Given the description of an element on the screen output the (x, y) to click on. 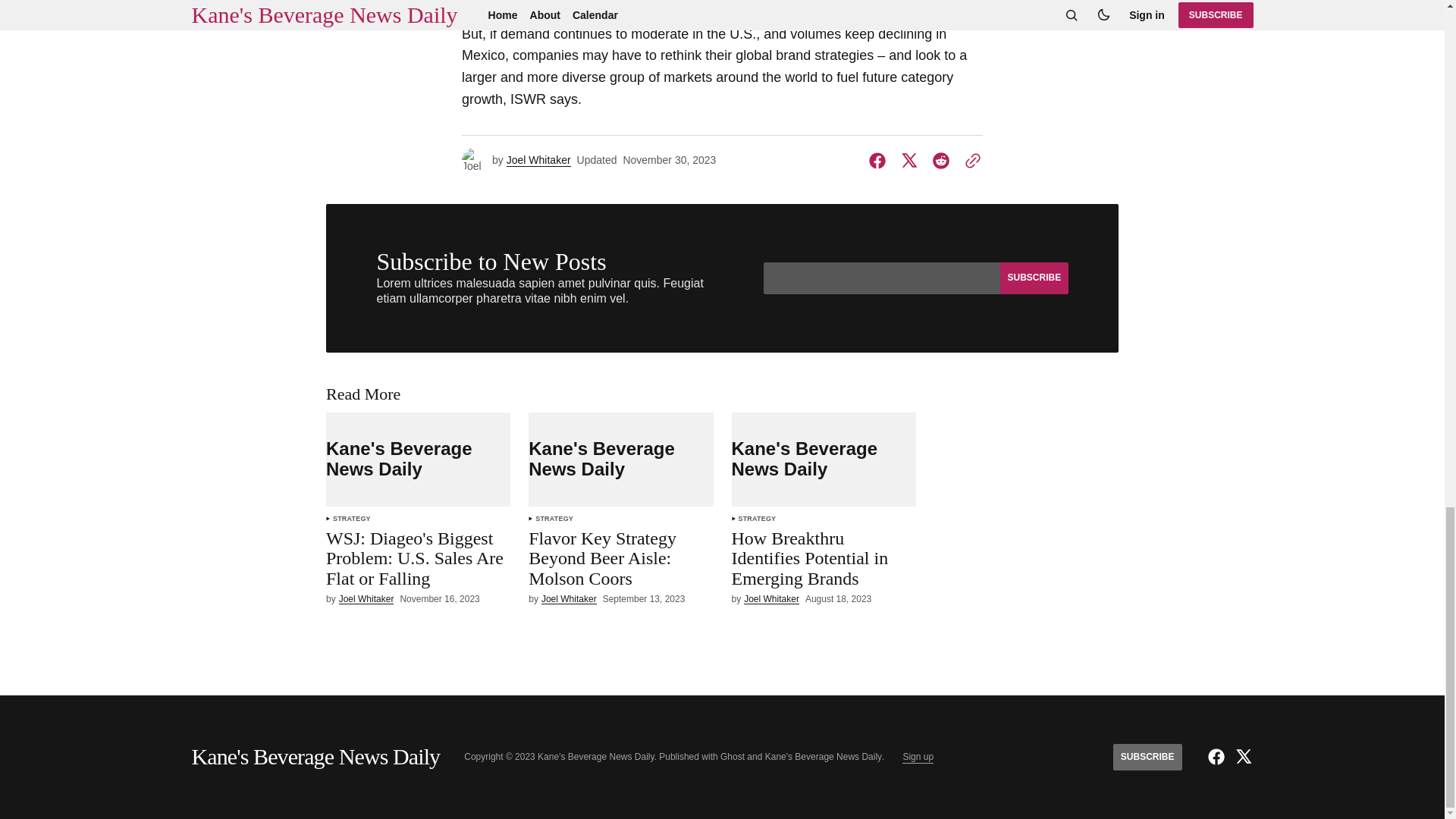
Joel Whitaker (538, 160)
STRATEGY (352, 518)
Kane's Beverage News Daily (620, 459)
Flavor Key Strategy Beyond Beer Aisle: Molson Coors (620, 561)
Kane's Beverage News Daily (418, 459)
STRATEGY (554, 518)
Joel Whitaker (568, 599)
Joel Whitaker (366, 599)
SUBSCRIBE (1032, 278)
